Given the description of an element on the screen output the (x, y) to click on. 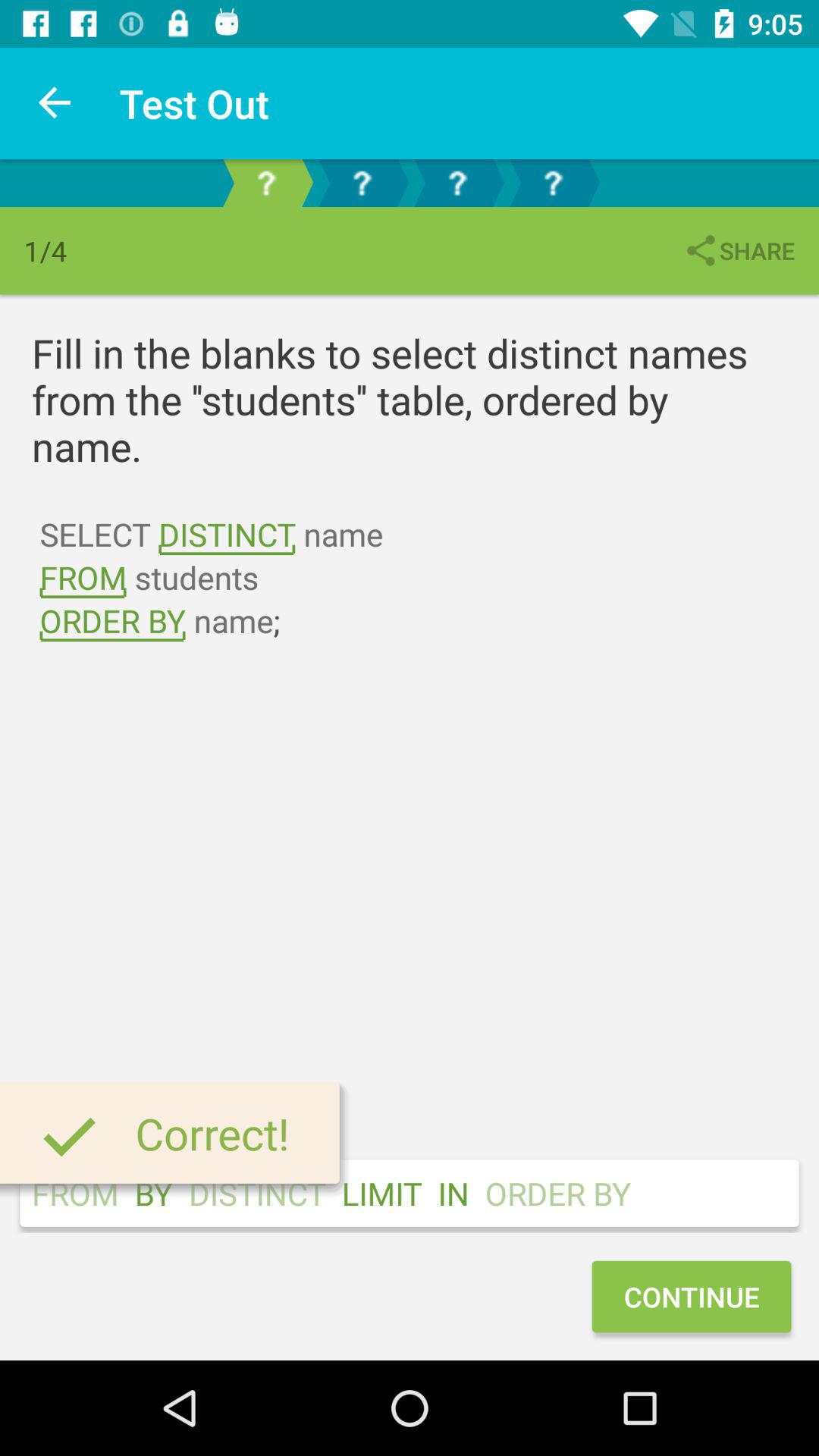
next question (457, 183)
